Given the description of an element on the screen output the (x, y) to click on. 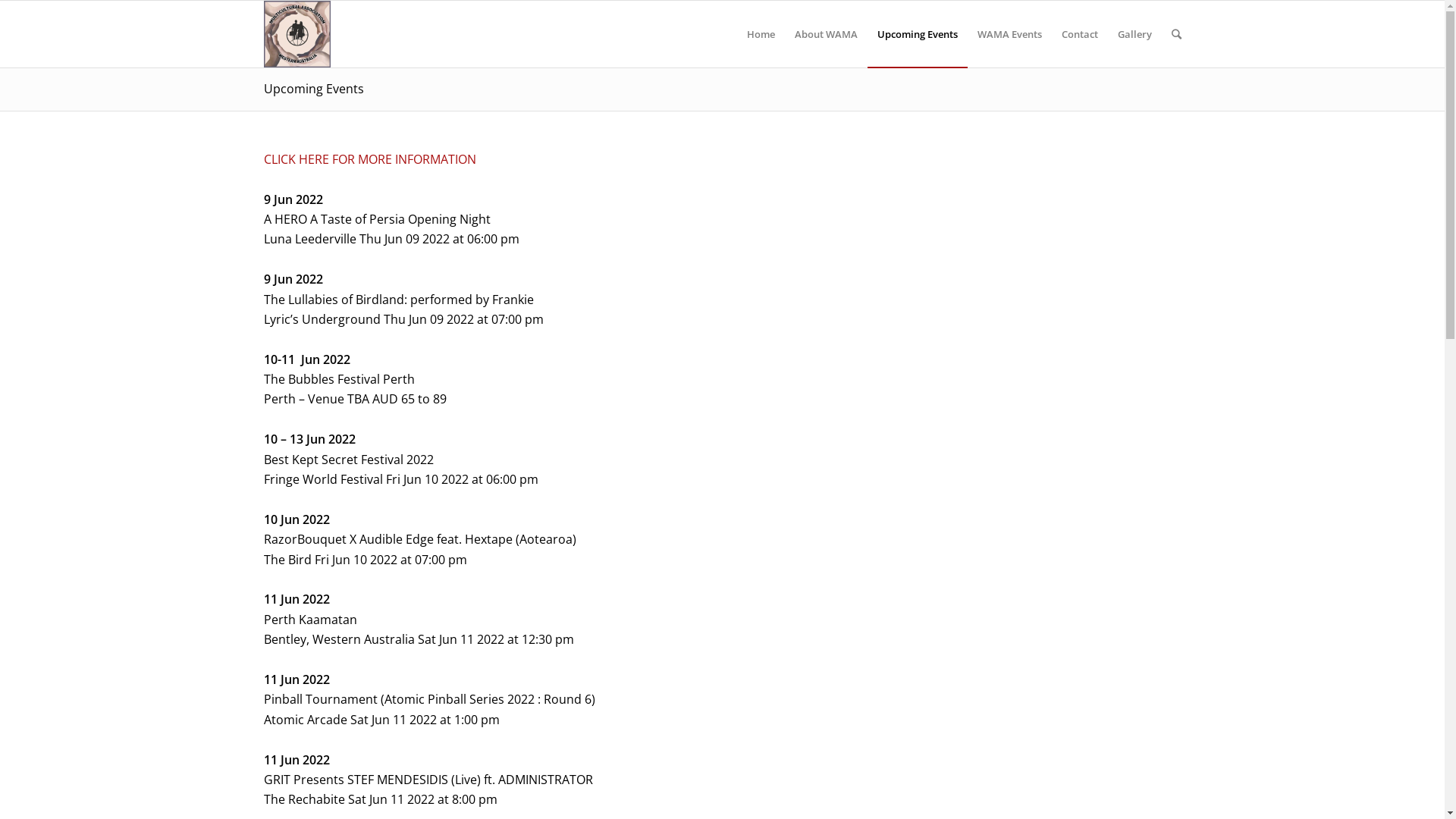
Home Element type: text (760, 33)
WAMA Events Element type: text (1009, 33)
CLICK HERE FOR MORE INFORMATION Element type: text (369, 158)
About WAMA Element type: text (825, 33)
Upcoming Events Element type: text (917, 33)
Gallery Element type: text (1134, 33)
Upcoming Events Element type: text (313, 88)
Contact Element type: text (1079, 33)
